Given the description of an element on the screen output the (x, y) to click on. 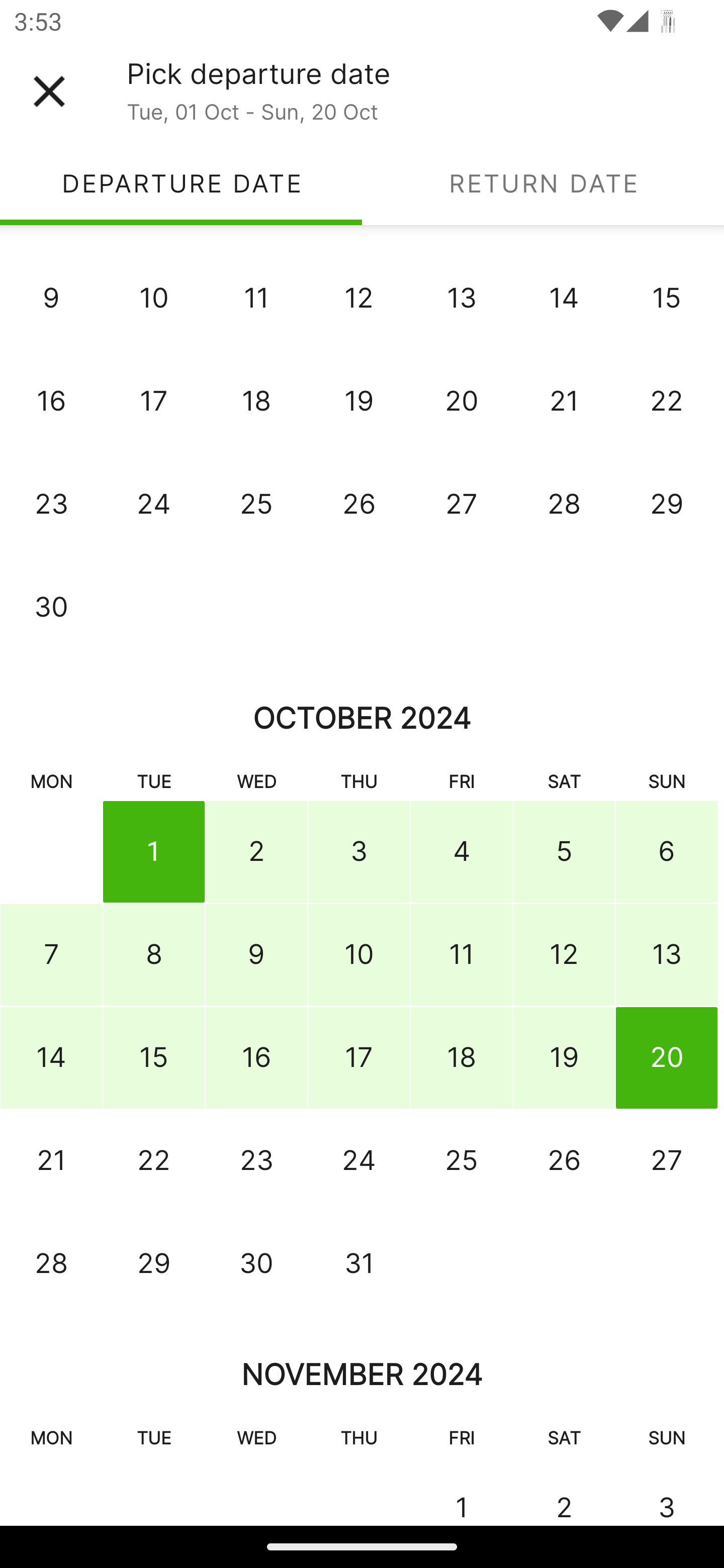
Return Date RETURN DATE (543, 183)
